Given the description of an element on the screen output the (x, y) to click on. 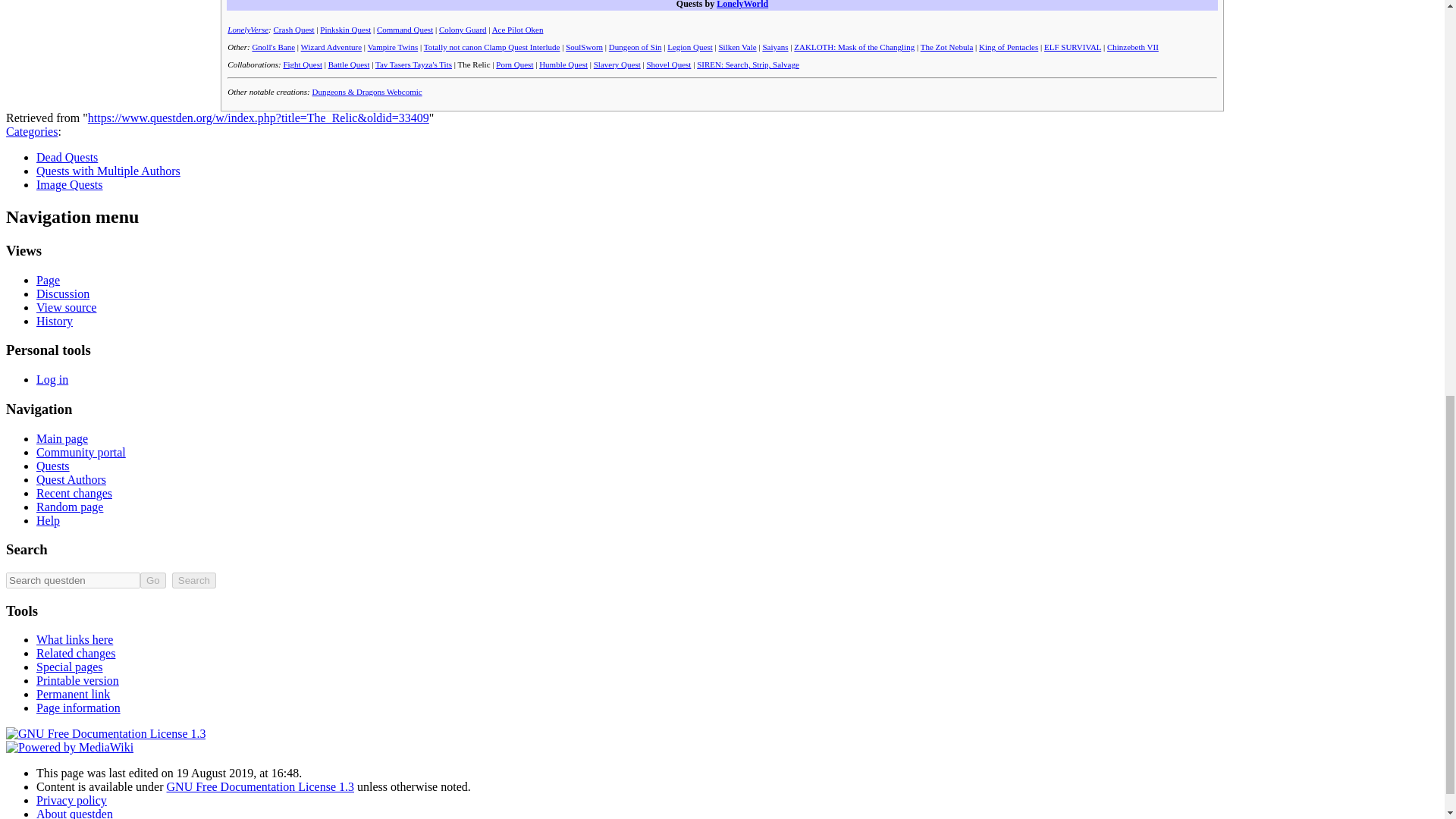
Search (193, 580)
Go (152, 580)
Go (152, 580)
Search (193, 580)
